Given the description of an element on the screen output the (x, y) to click on. 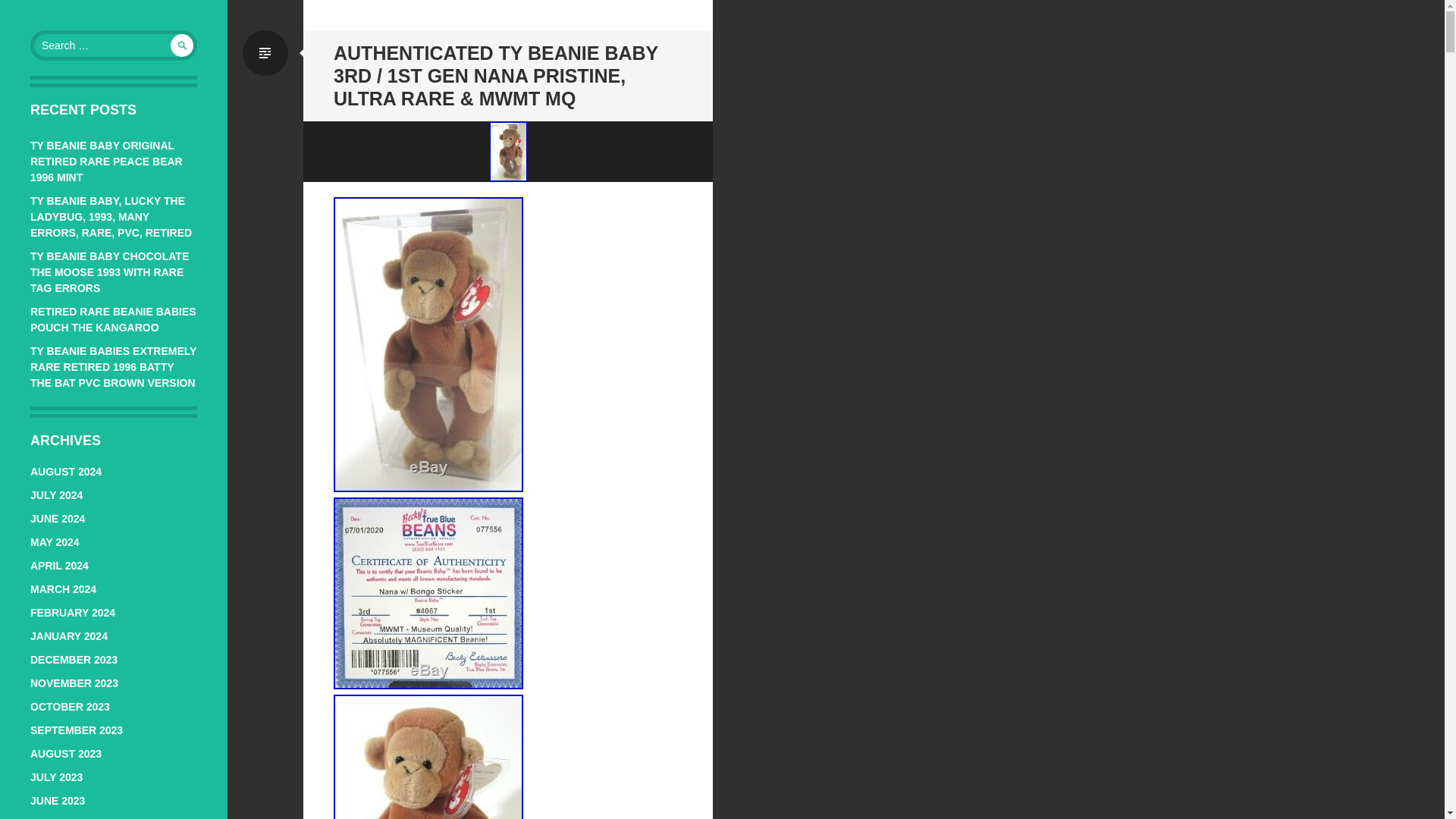
OCTOBER 2023 (70, 706)
JUNE 2024 (57, 518)
TY BEANIE BABY CHOCOLATE THE MOOSE 1993 WITH RARE TAG ERRORS (109, 272)
SEPTEMBER 2023 (76, 729)
JANUARY 2024 (68, 635)
MAY 2023 (55, 818)
AUGUST 2023 (65, 753)
MARCH 2024 (63, 589)
Search for: (113, 45)
